Given the description of an element on the screen output the (x, y) to click on. 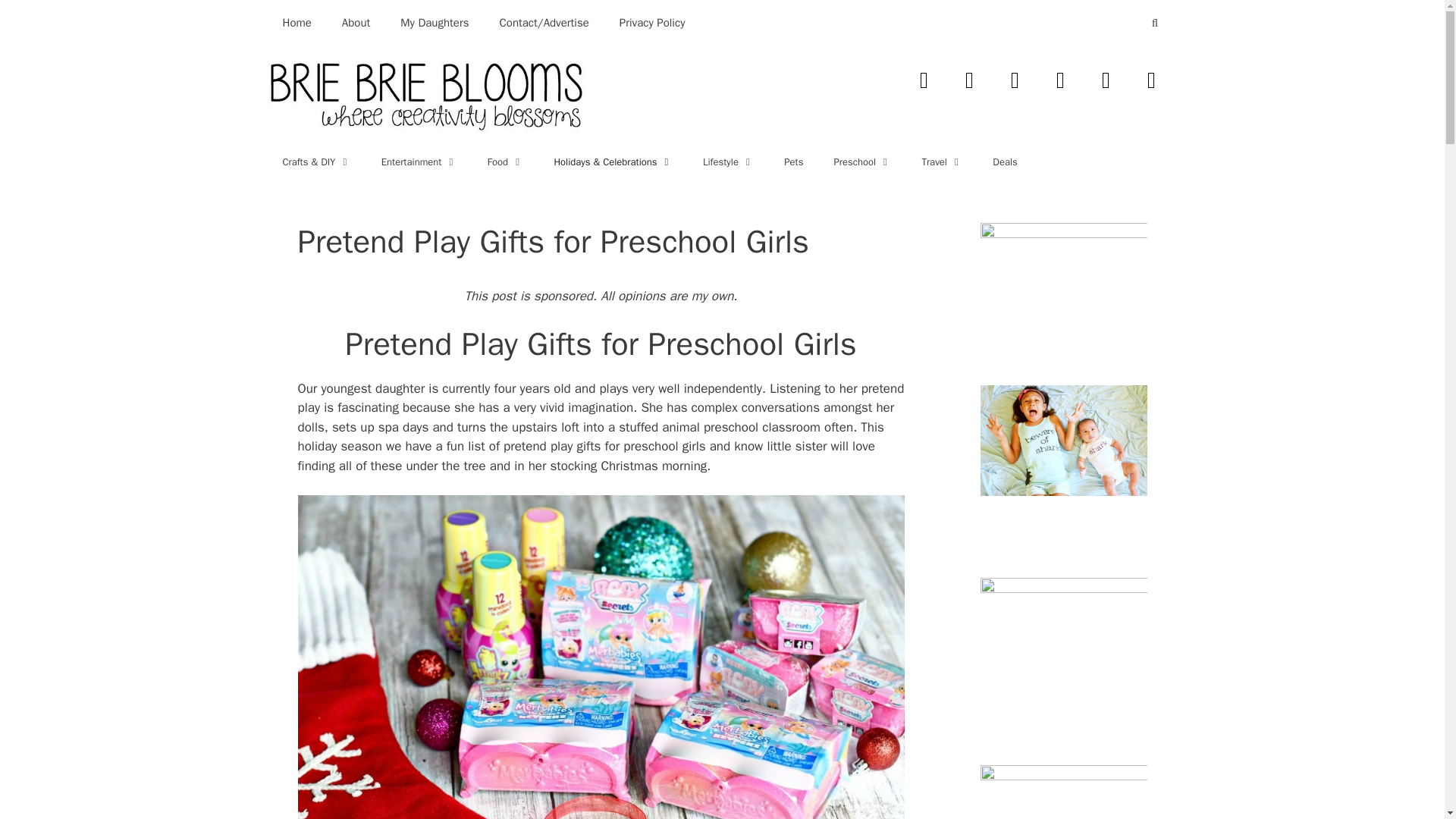
Instagram (1013, 79)
YouTube (1060, 79)
Food (504, 162)
Pinterest (1150, 79)
Entertainment (418, 162)
Privacy Policy (652, 22)
About (355, 22)
Home (296, 22)
Facebook (923, 79)
LinkedIn (1105, 79)
Twitter (968, 79)
My Daughters (434, 22)
